Given the description of an element on the screen output the (x, y) to click on. 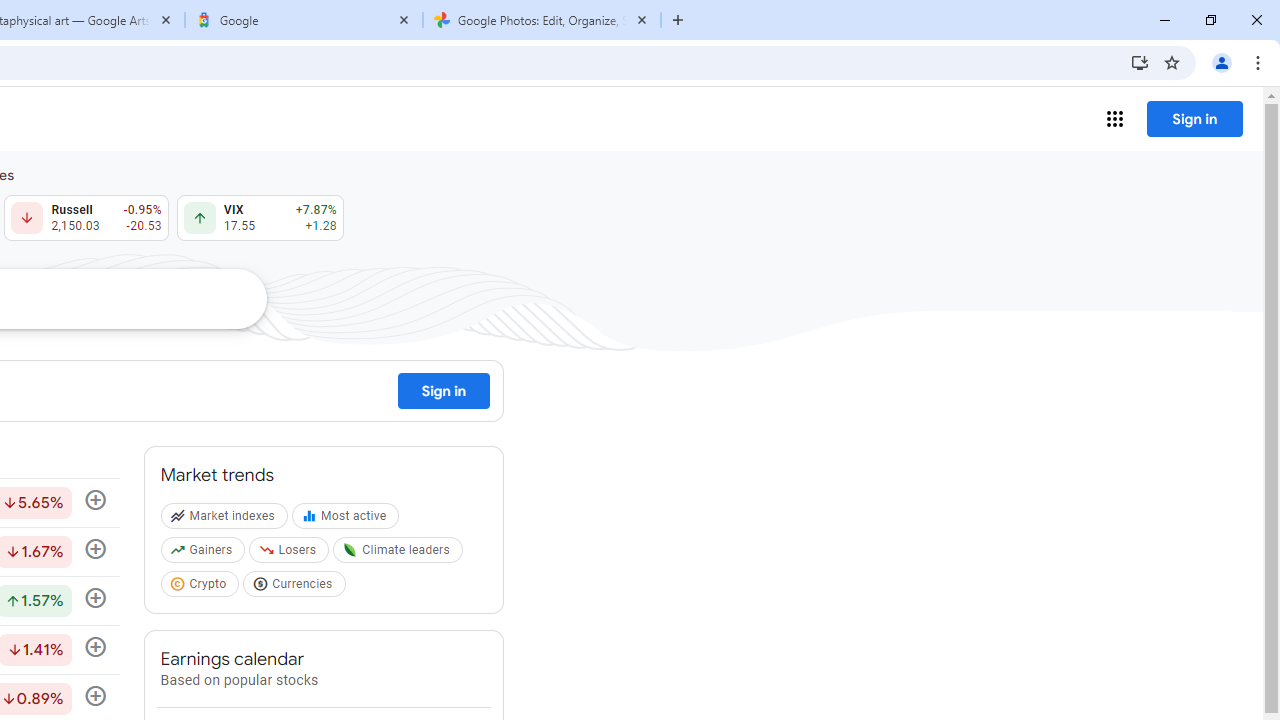
Follow (95, 647)
Gainers (204, 553)
Market indexes (226, 520)
GLeaf logo (349, 550)
VIX 17.55 Up by 7.87% +1.28 (260, 218)
